Given the description of an element on the screen output the (x, y) to click on. 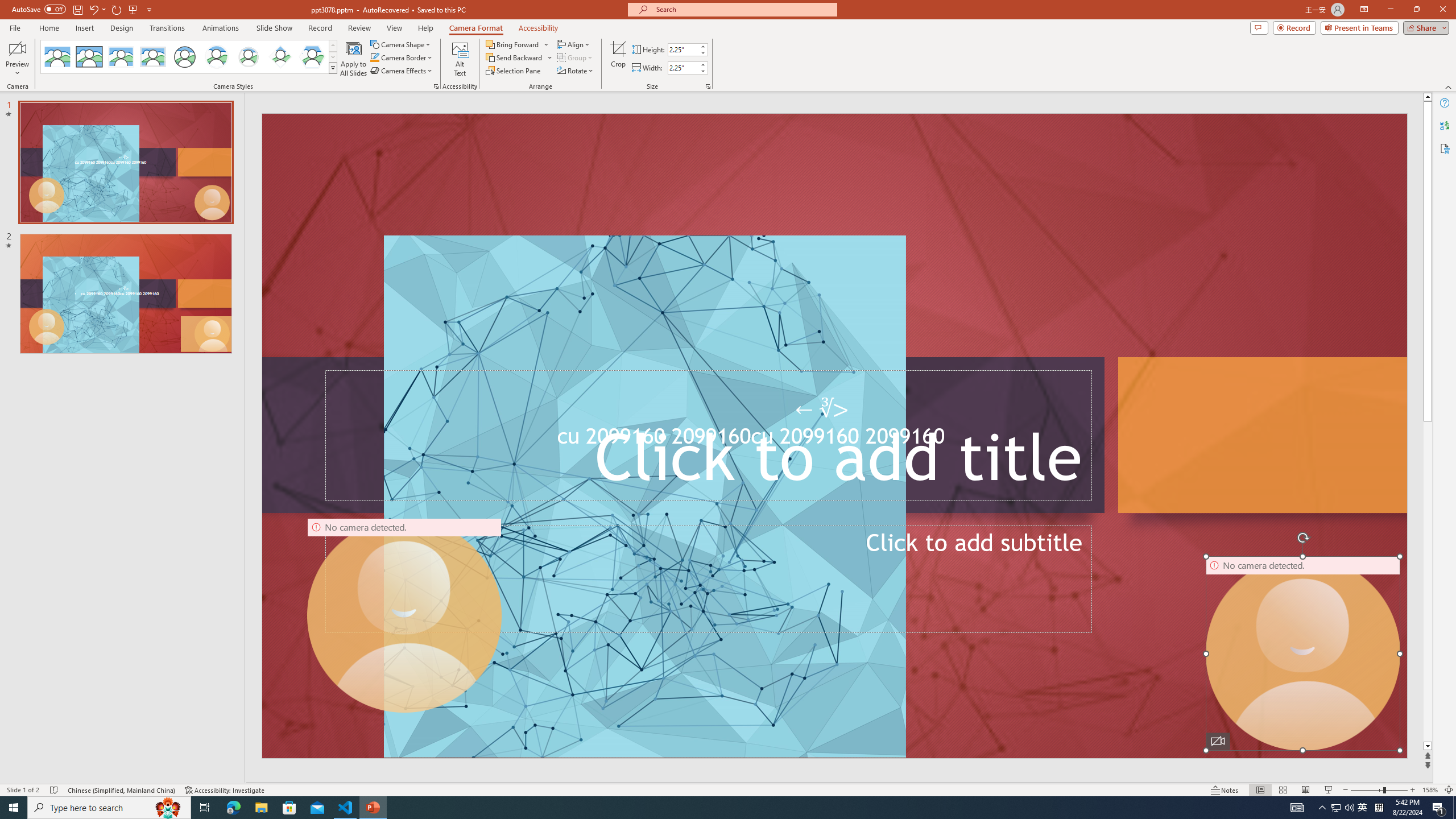
TextBox 61 (832, 438)
Camera Shape (400, 44)
Camera Border Green, Accent 1 (374, 56)
Center Shadow Circle (216, 56)
No Style (57, 56)
Camera 16, No camera detected. (1302, 653)
Camera Format (475, 28)
